Given the description of an element on the screen output the (x, y) to click on. 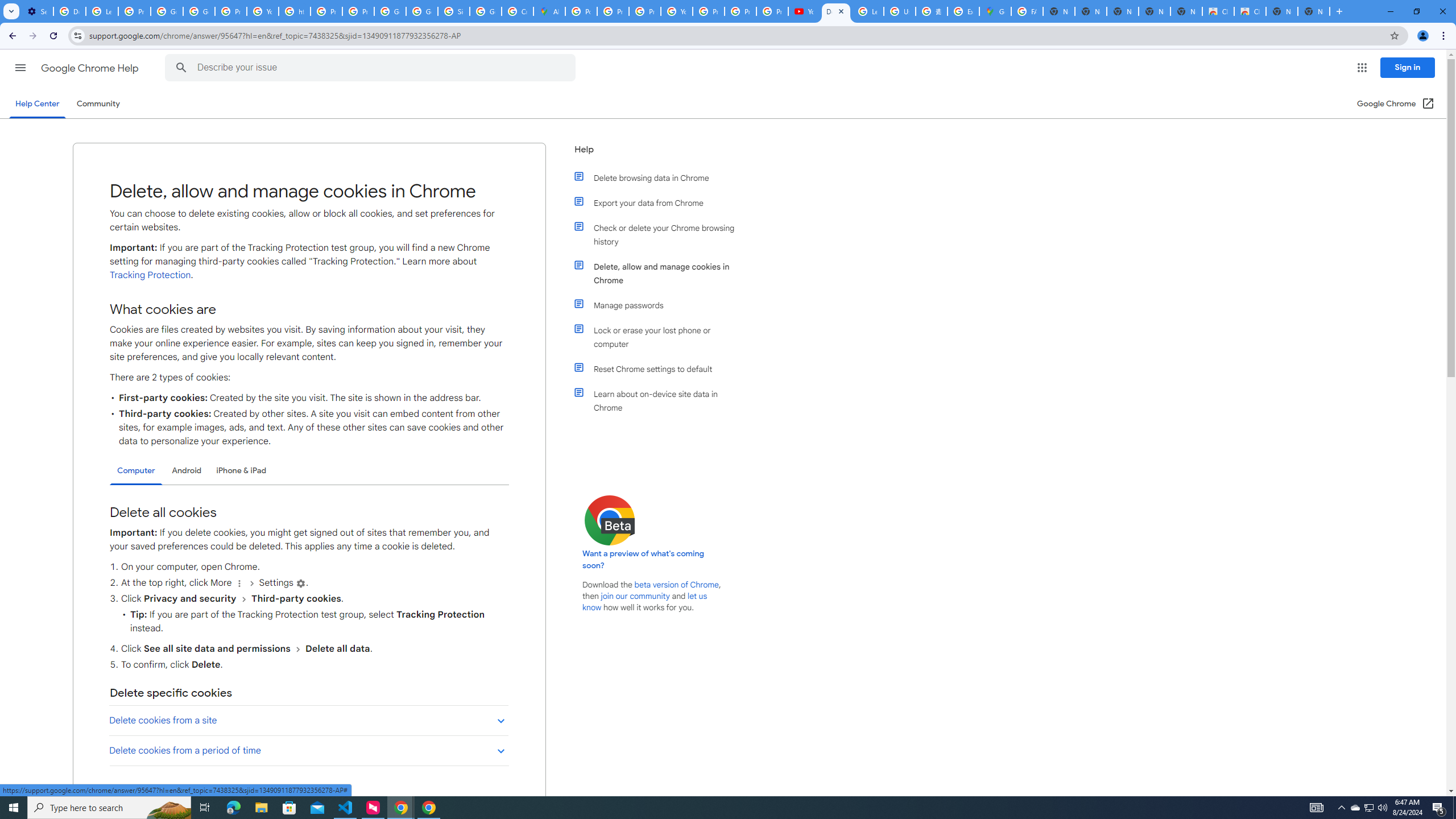
Help Center (36, 103)
Main menu (20, 67)
Google Chrome (Open in a new window) (1395, 103)
Delete cookies from a period of time (308, 750)
Android (186, 470)
Chrome Beta logo (609, 520)
Classic Blue - Chrome Web Store (1249, 11)
Check or delete your Chrome browsing history (661, 234)
Delete browsing data in Chrome (661, 177)
